Given the description of an element on the screen output the (x, y) to click on. 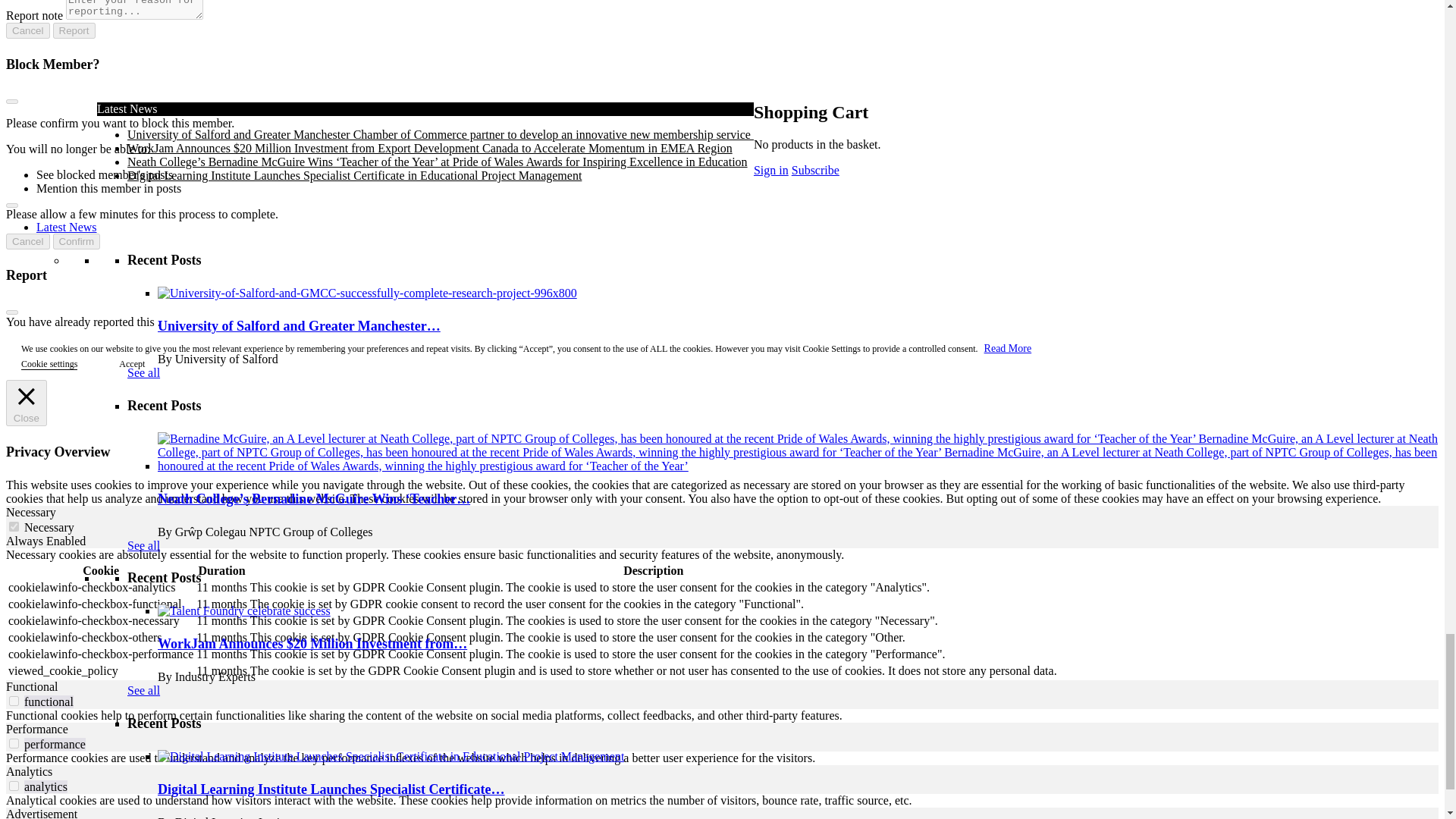
on (13, 700)
Cancel (27, 241)
4 content types (424, 401)
Cancel (27, 30)
on (13, 786)
on (13, 743)
on (13, 526)
